Given the description of an element on the screen output the (x, y) to click on. 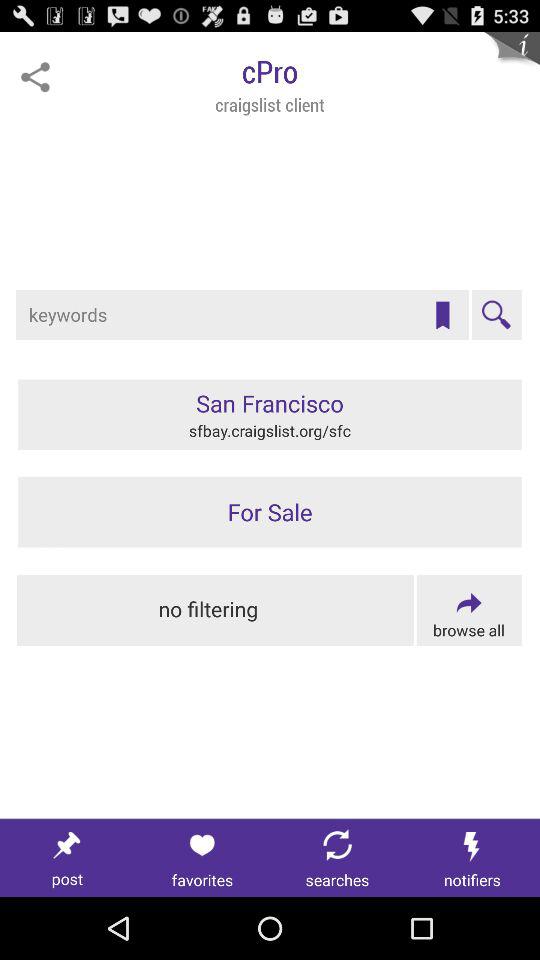
click item at the top left corner (35, 77)
